Given the description of an element on the screen output the (x, y) to click on. 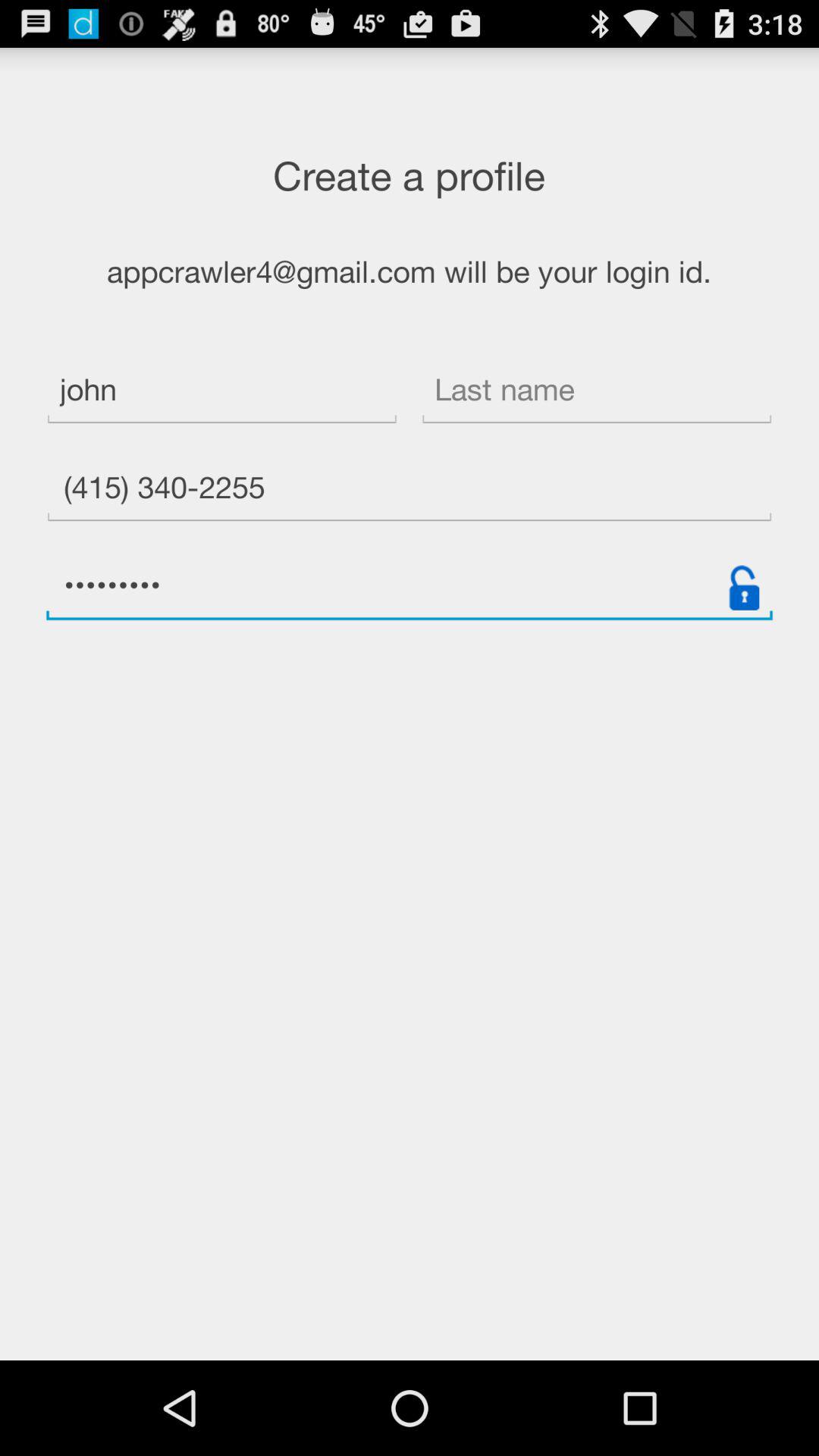
press icon to the right of john item (596, 392)
